Given the description of an element on the screen output the (x, y) to click on. 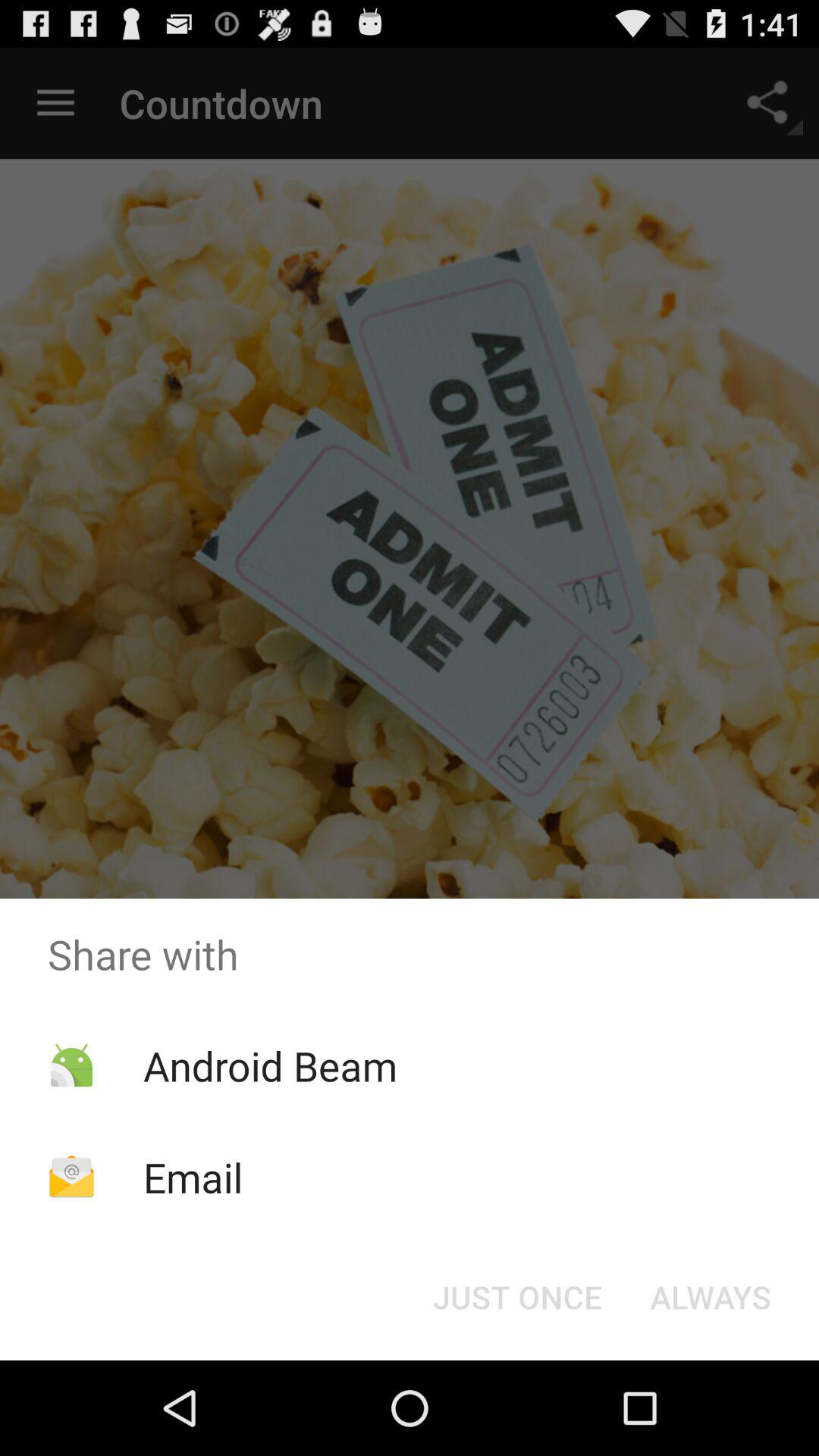
turn on the email app (192, 1176)
